Given the description of an element on the screen output the (x, y) to click on. 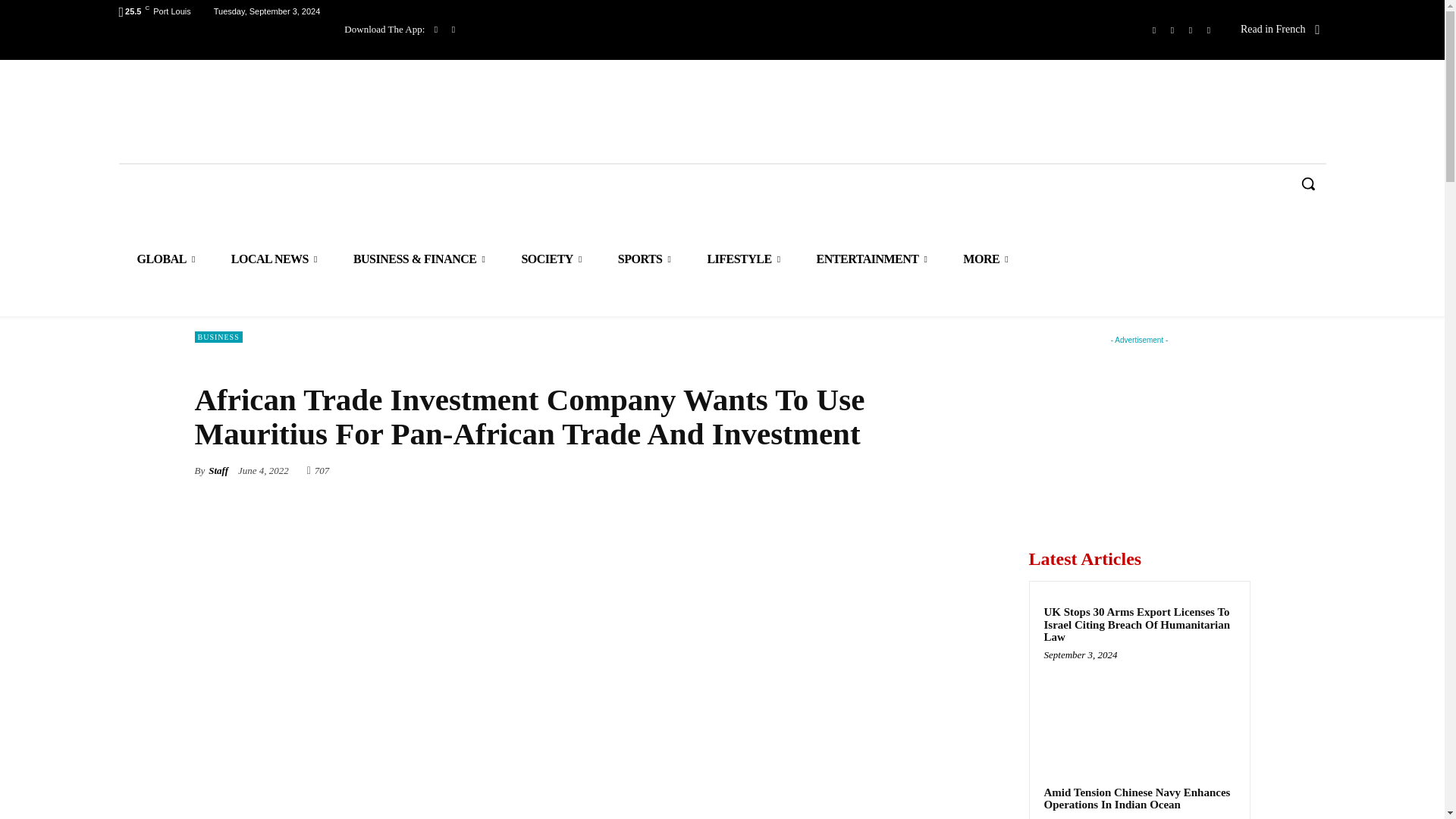
Youtube (1208, 30)
Facebook (1153, 30)
Twitter (1189, 30)
Instagram (1171, 30)
